Given the description of an element on the screen output the (x, y) to click on. 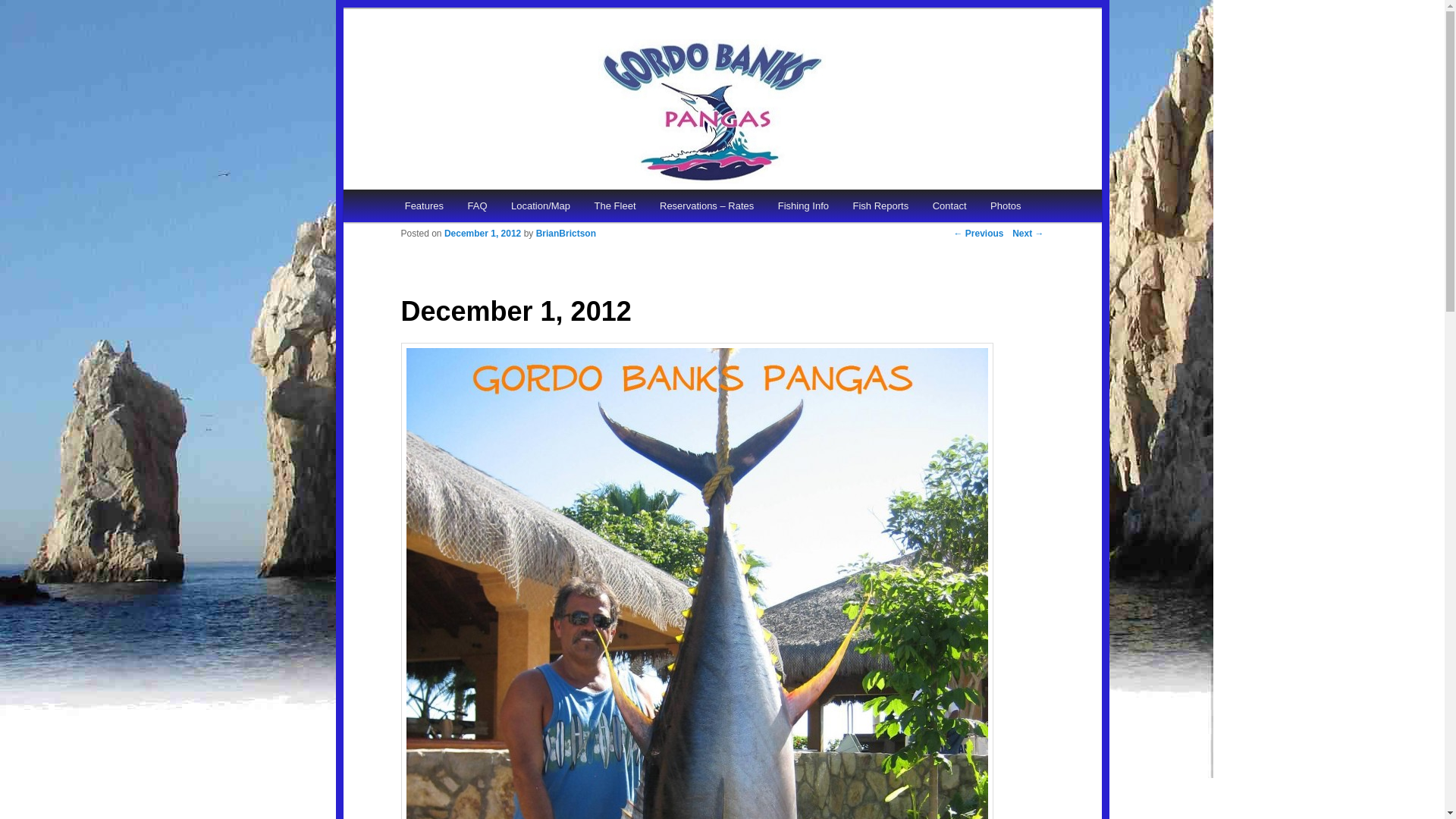
Contact (949, 205)
4:54 pm (482, 233)
Skip to secondary content (479, 208)
View all posts by BrianBrictson (565, 233)
Features (424, 205)
December 1, 2012 (482, 233)
Skip to primary content (472, 208)
The Fleet (614, 205)
Fish Reports (880, 205)
BrianBrictson (565, 233)
